Given the description of an element on the screen output the (x, y) to click on. 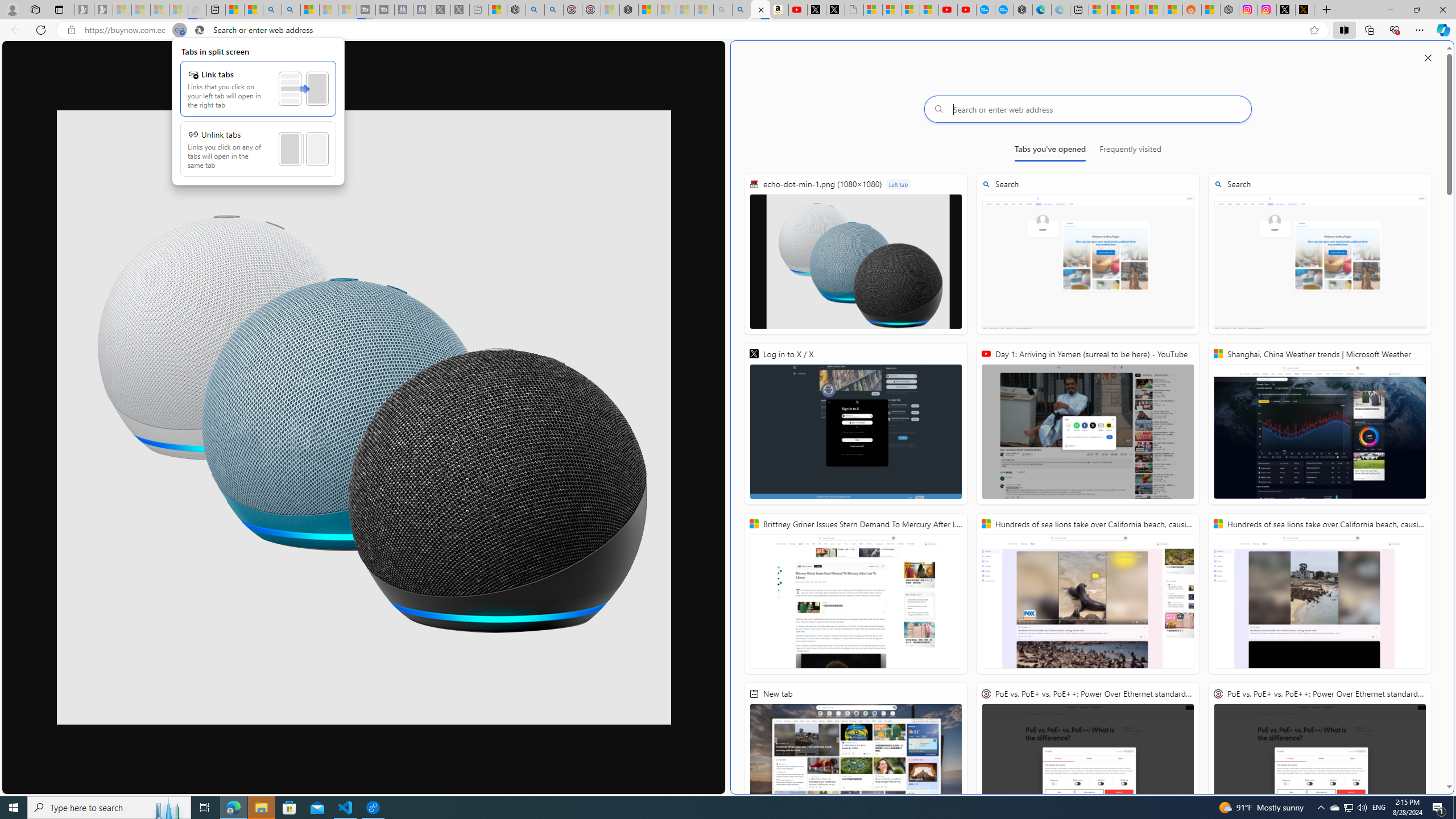
Shanghai, China Weather trends | Microsoft Weather (1319, 423)
X - Sleeping (459, 9)
Unlink tabs (258, 148)
To get missing image descriptions, open the context menu. (363, 417)
X (835, 9)
Untitled (853, 9)
